Given the description of an element on the screen output the (x, y) to click on. 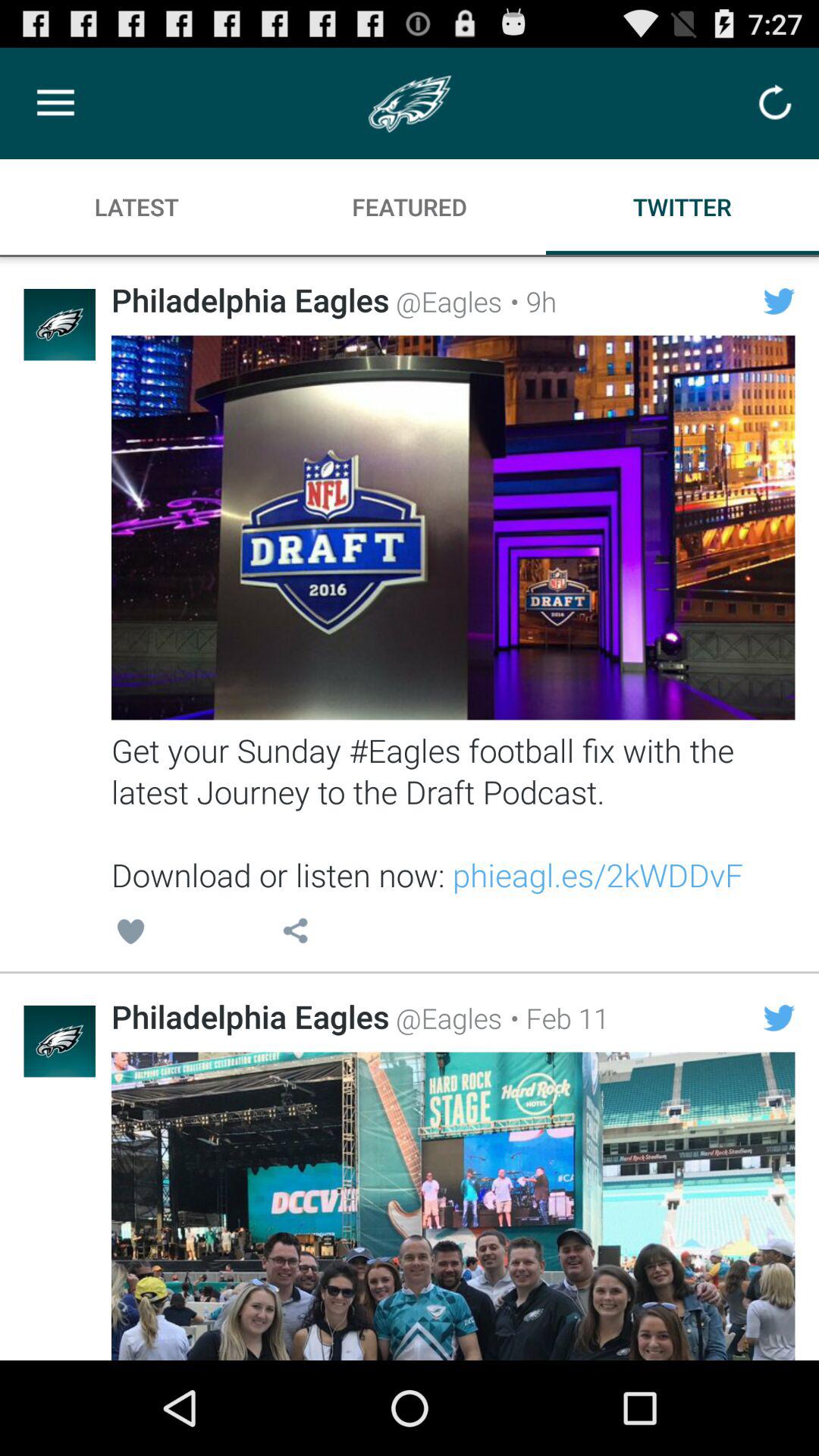
select get your sunday icon (453, 812)
